Given the description of an element on the screen output the (x, y) to click on. 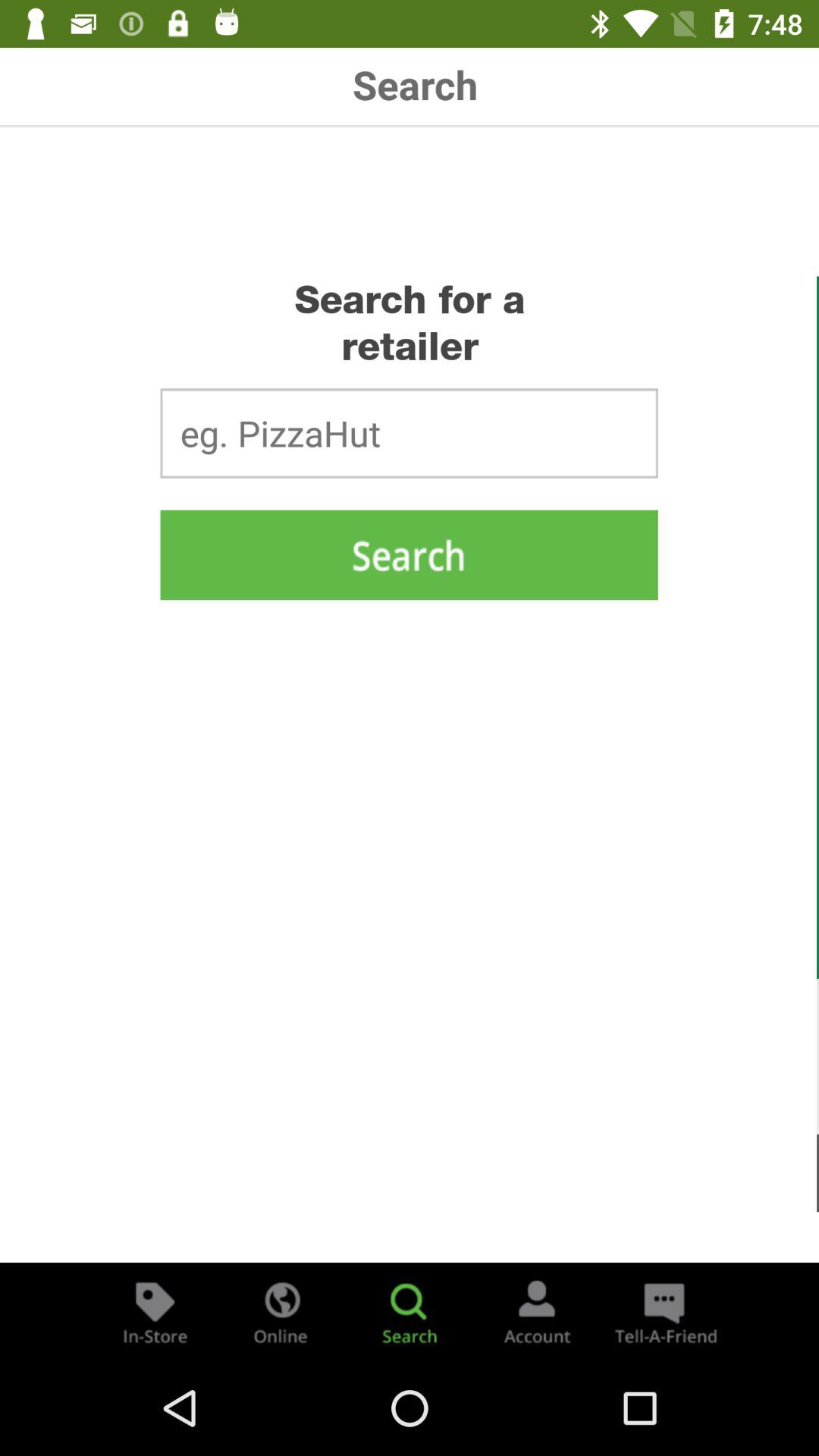
tell a friend (664, 1311)
